Given the description of an element on the screen output the (x, y) to click on. 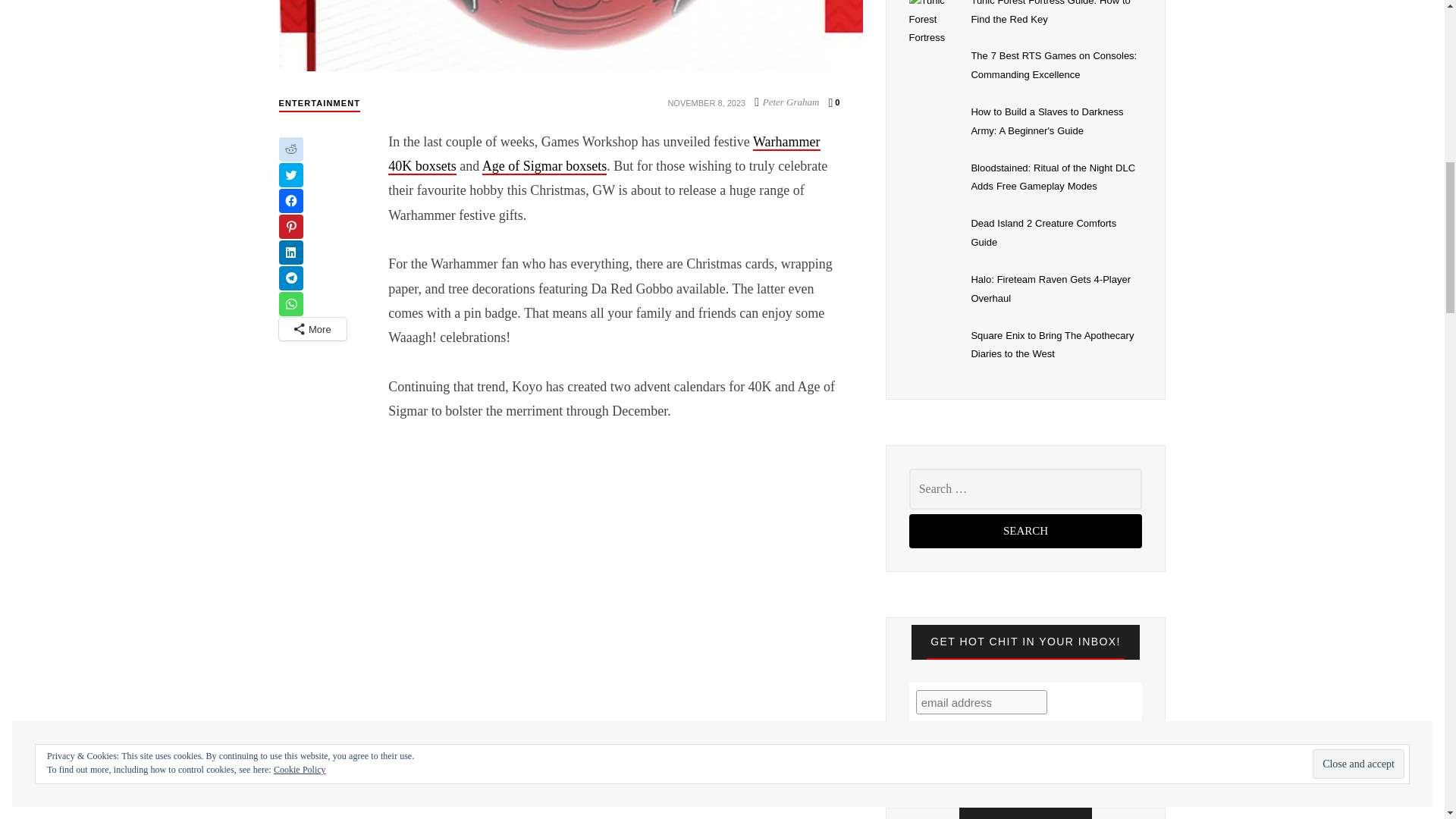
Click to share on Facebook (290, 200)
Click to share on WhatsApp (290, 303)
Warhammer 40K boxsets (603, 154)
Click to share on Telegram (290, 278)
Click to share on Pinterest (290, 226)
Subscribe (955, 733)
Click to share on Twitter (290, 174)
More (313, 328)
Search (1024, 530)
Age of Sigmar boxsets (544, 166)
